Given the description of an element on the screen output the (x, y) to click on. 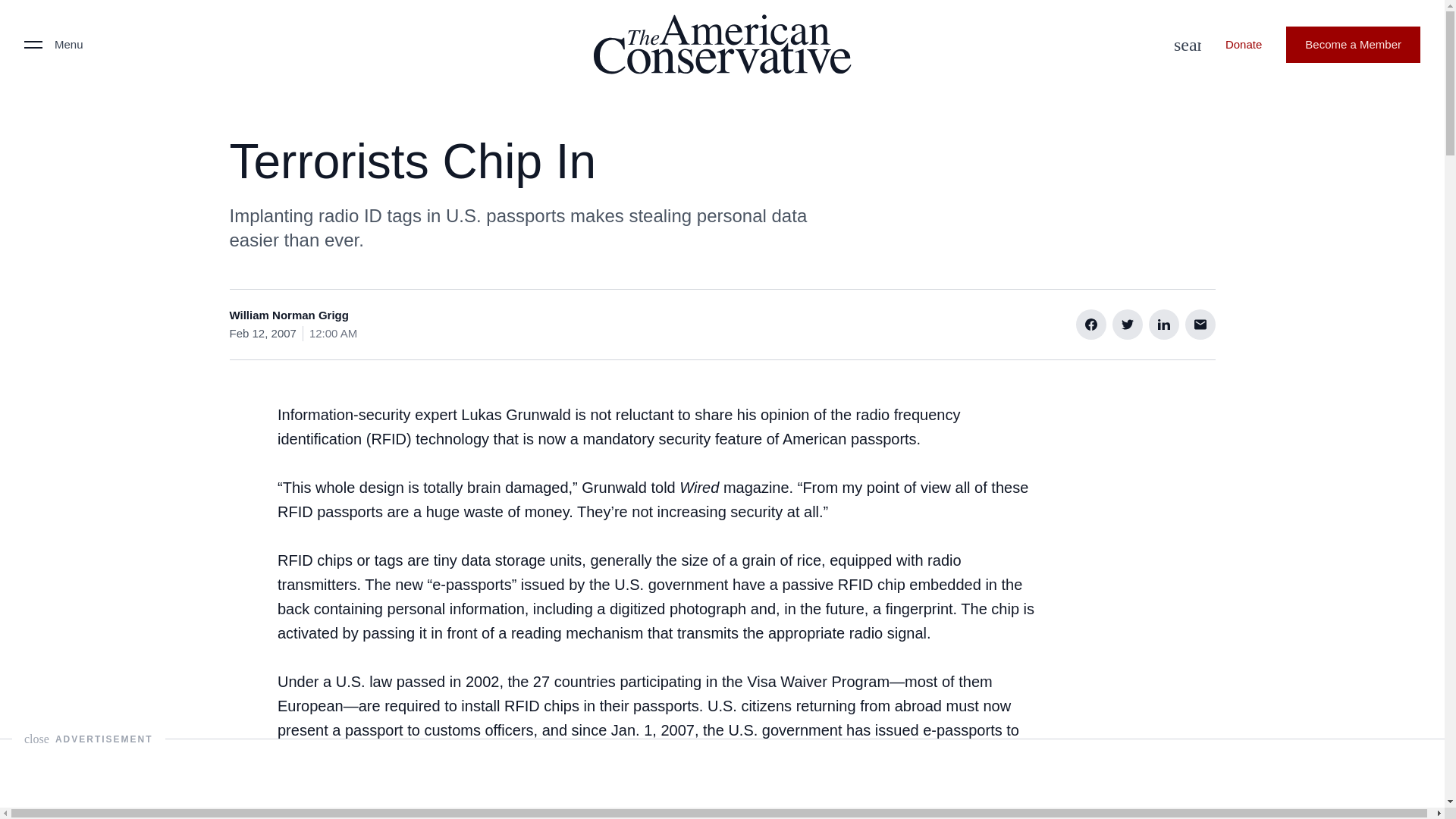
Become a Member (1353, 44)
William Norman Grigg (287, 314)
Donate (1243, 44)
Menu (53, 44)
3rd party ad content (721, 773)
search (1182, 44)
